Given the description of an element on the screen output the (x, y) to click on. 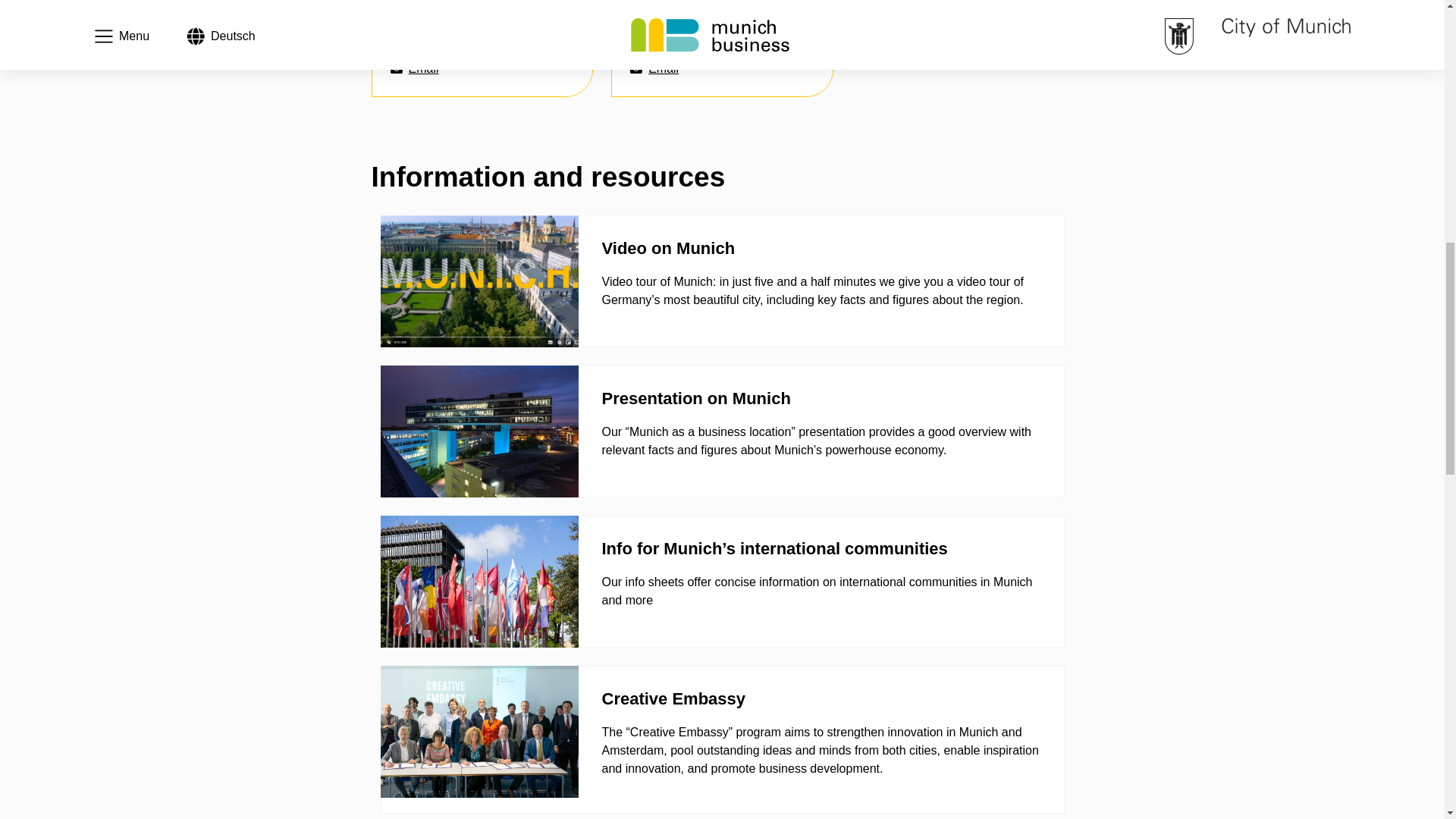
Email (654, 68)
Email (414, 68)
Munich Tourism (922, 10)
